Given the description of an element on the screen output the (x, y) to click on. 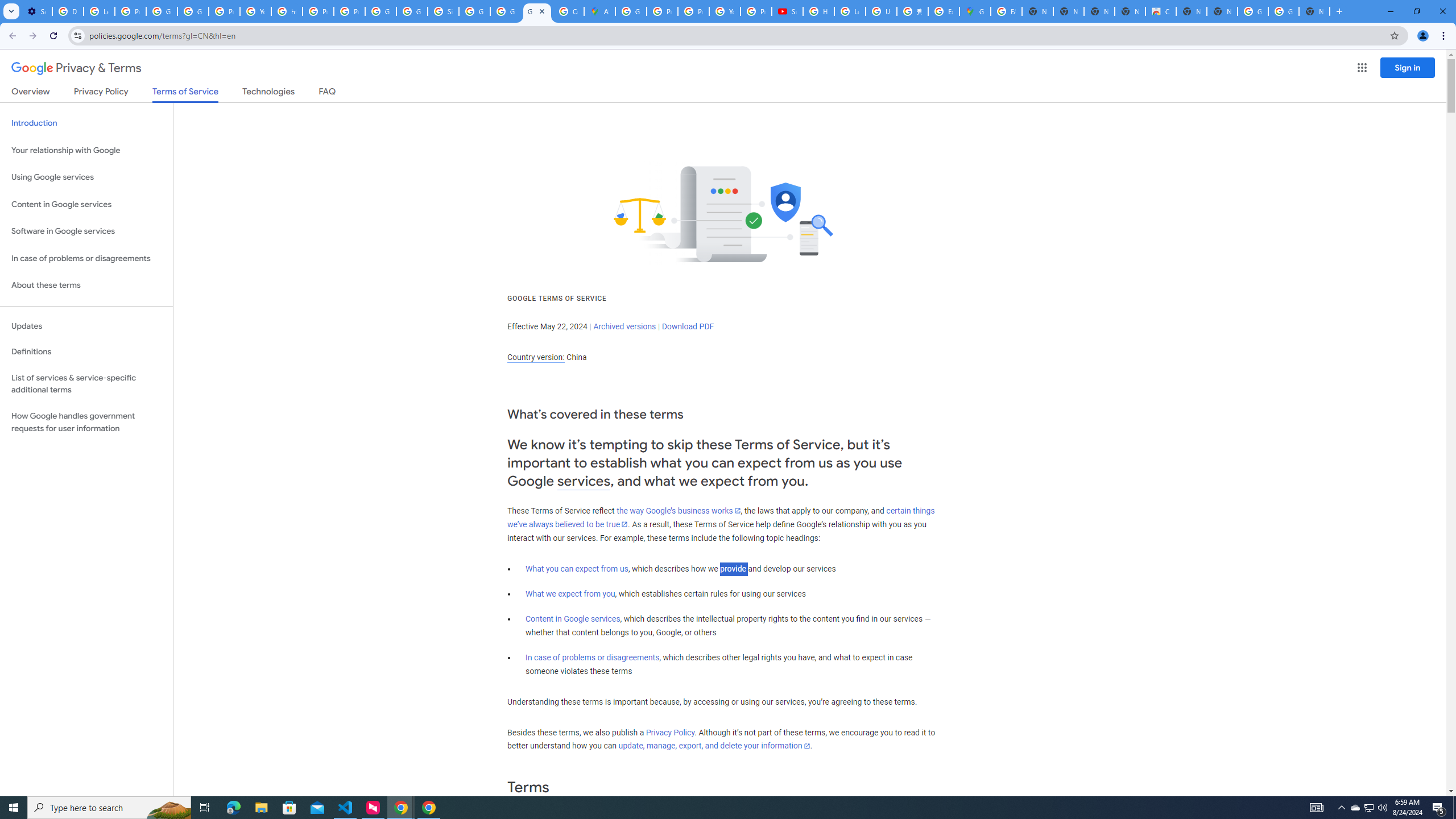
Explore new street-level details - Google Maps Help (943, 11)
Archived versions (624, 326)
Chrome Web Store (1160, 11)
Google Account Help (192, 11)
Learn how to find your photos - Google Photos Help (98, 11)
Overview (30, 93)
